Given the description of an element on the screen output the (x, y) to click on. 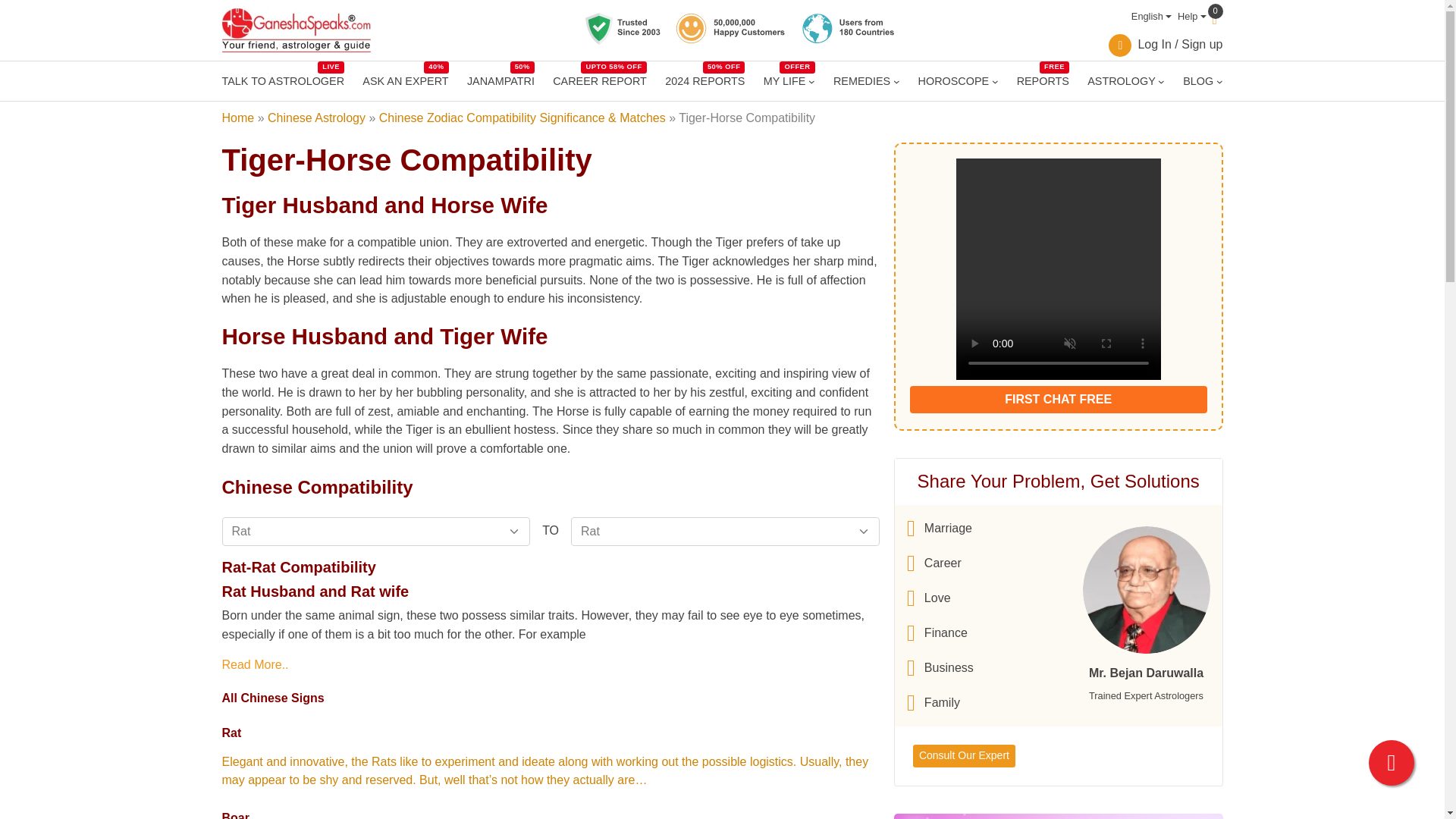
Marriage (940, 527)
Business (940, 667)
Career (940, 563)
Help (1189, 16)
Love (940, 598)
Finance (784, 80)
Family (940, 632)
English (282, 80)
